Given the description of an element on the screen output the (x, y) to click on. 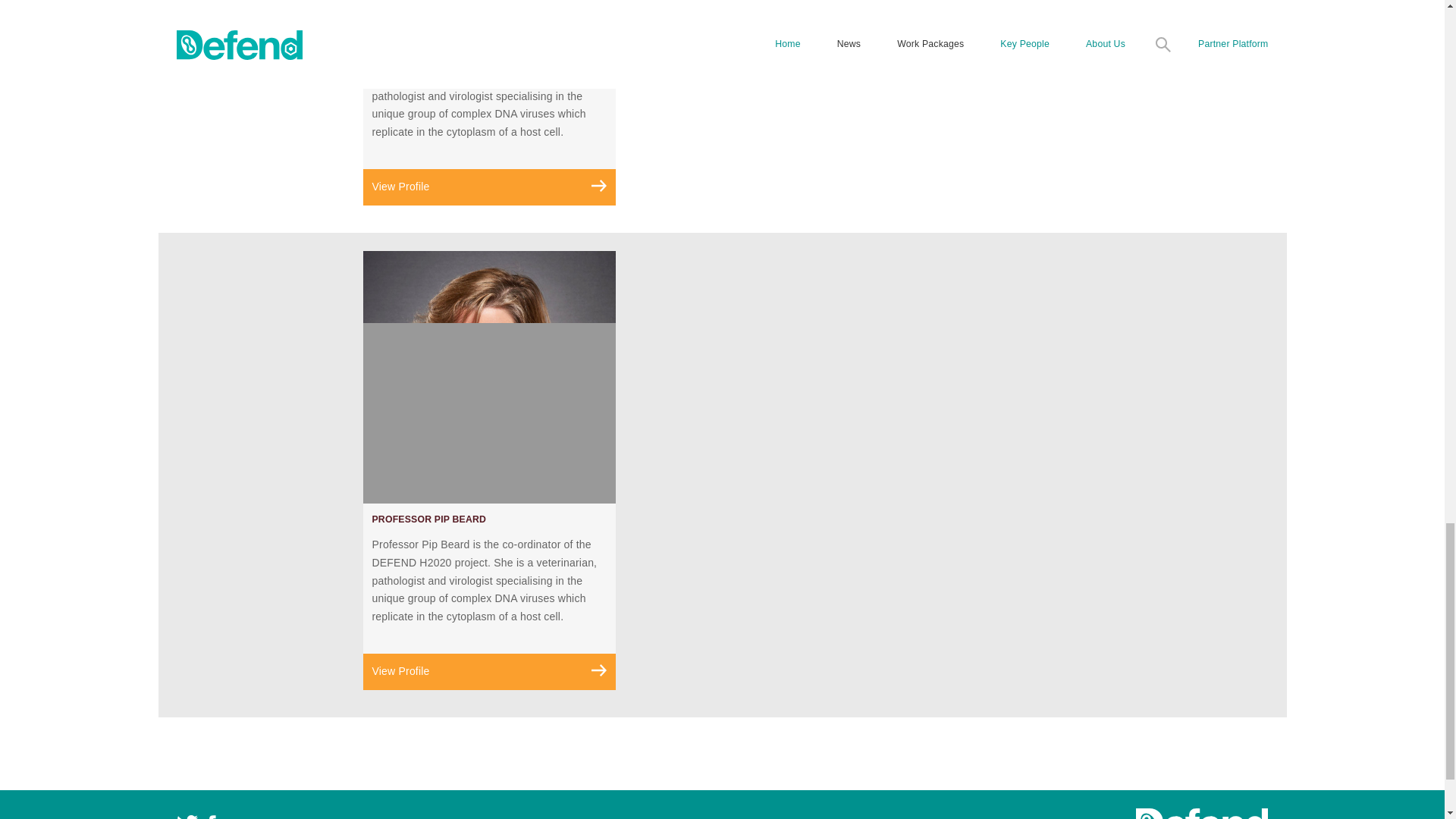
PROFESSOR PIP BEARD (428, 34)
View Profile (488, 671)
PROFESSOR PIP BEARD (428, 519)
View Profile (488, 186)
